Given the description of an element on the screen output the (x, y) to click on. 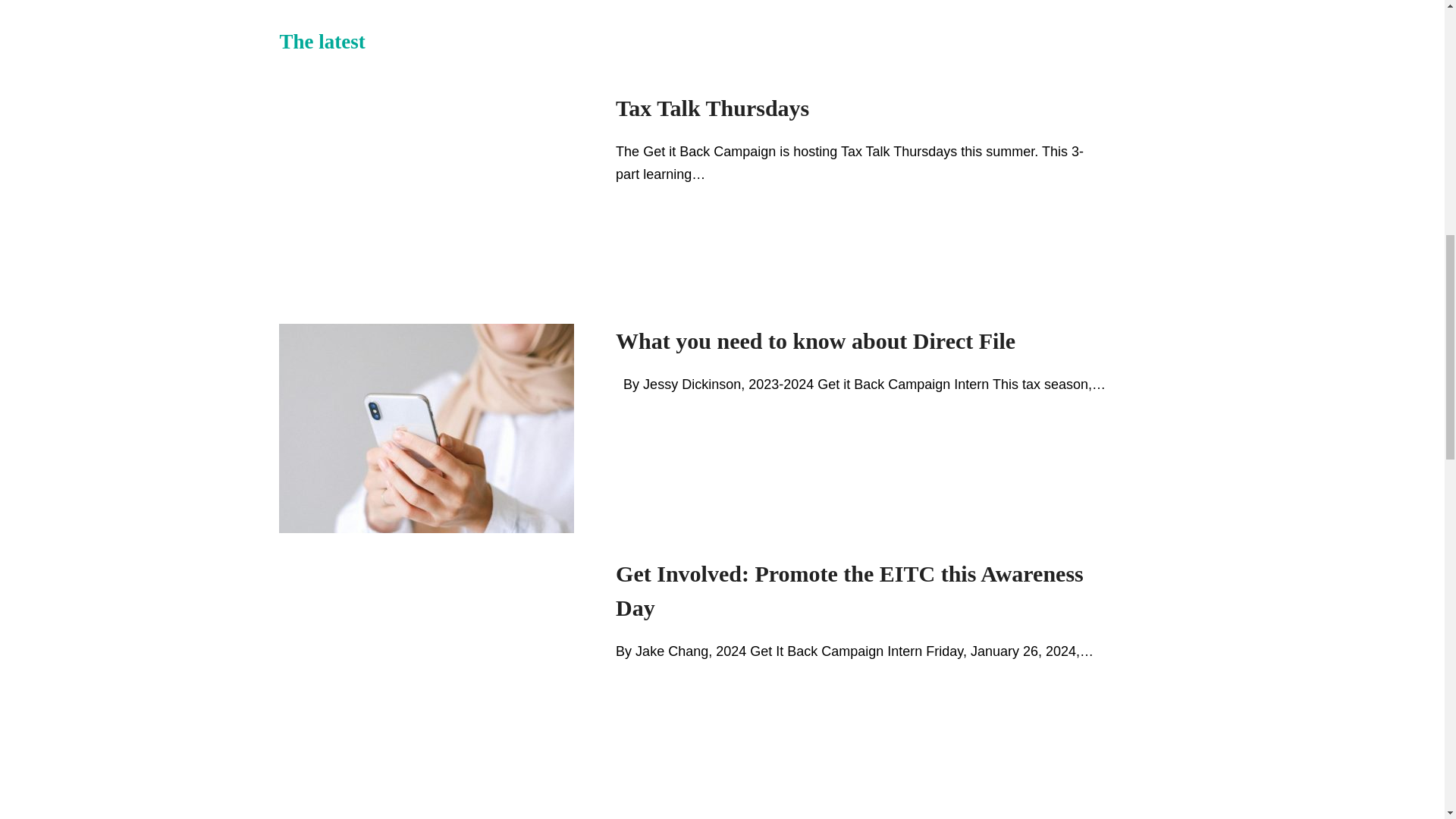
Tax Talk Thursdays (712, 107)
What you need to know about Direct File (814, 340)
Get Involved: Promote the EITC this Awareness Day (849, 590)
